Given the description of an element on the screen output the (x, y) to click on. 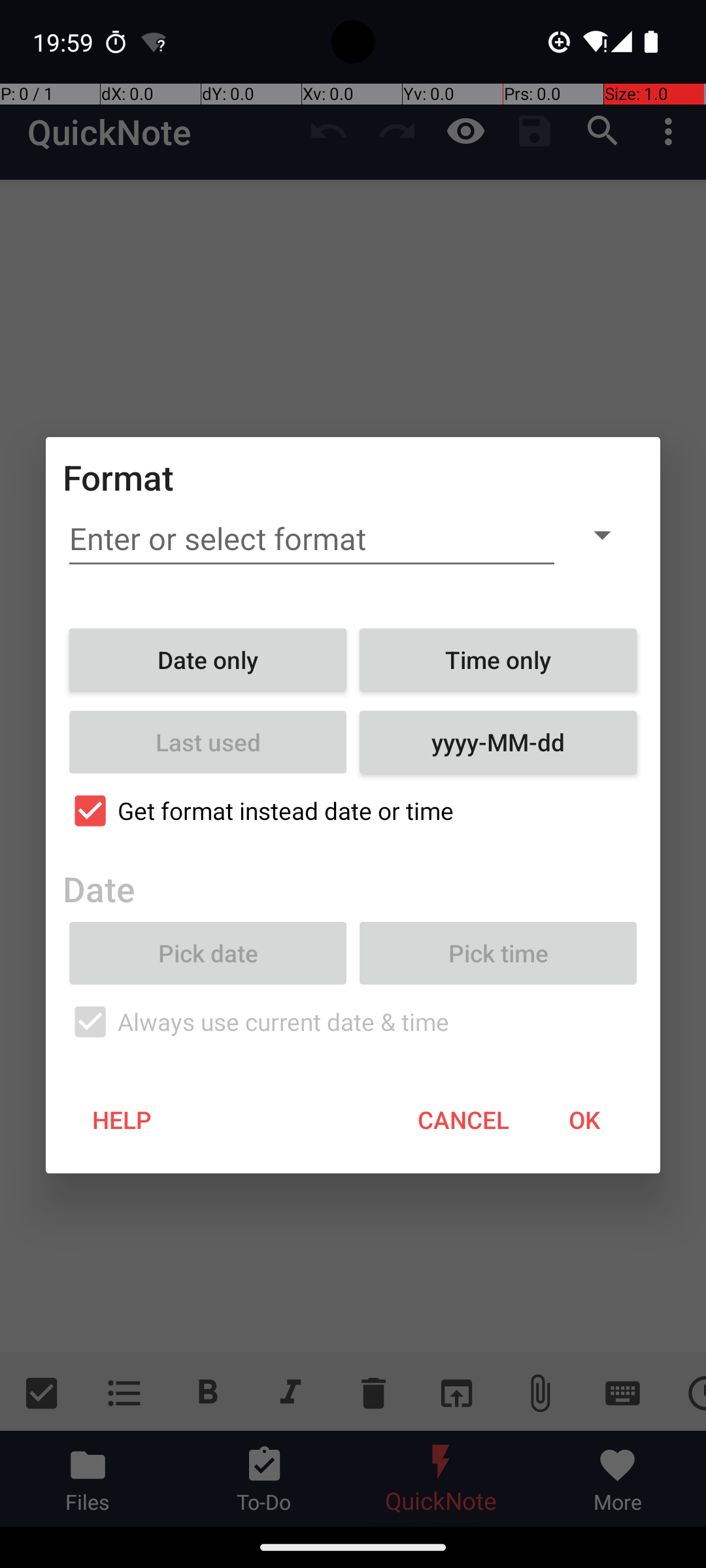
19:59 Element type: android.widget.TextView (64, 41)
